Given the description of an element on the screen output the (x, y) to click on. 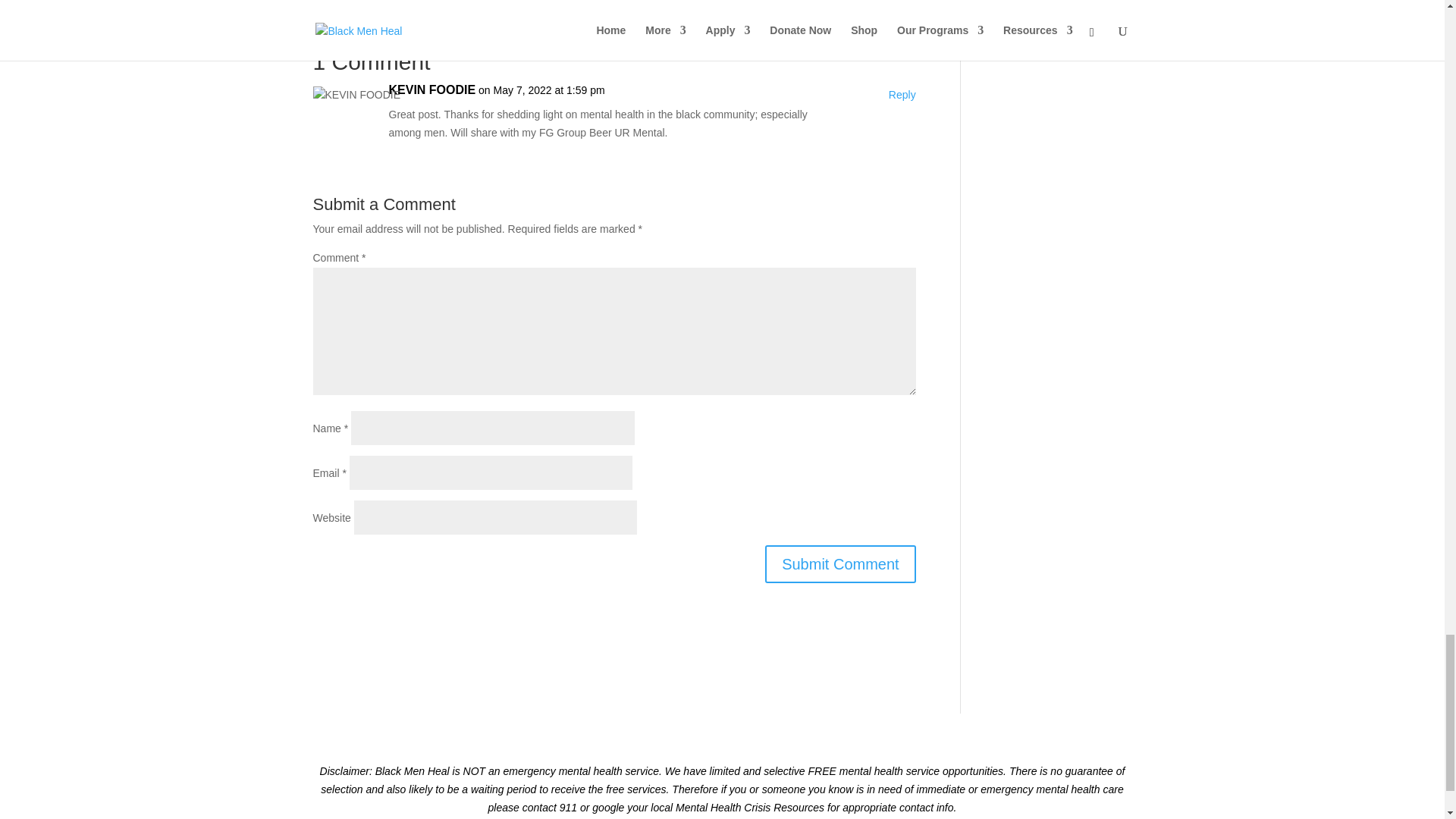
Submit Comment (840, 564)
Submit Comment (840, 564)
KEVIN FOODIE (432, 90)
Reply (901, 95)
